Given the description of an element on the screen output the (x, y) to click on. 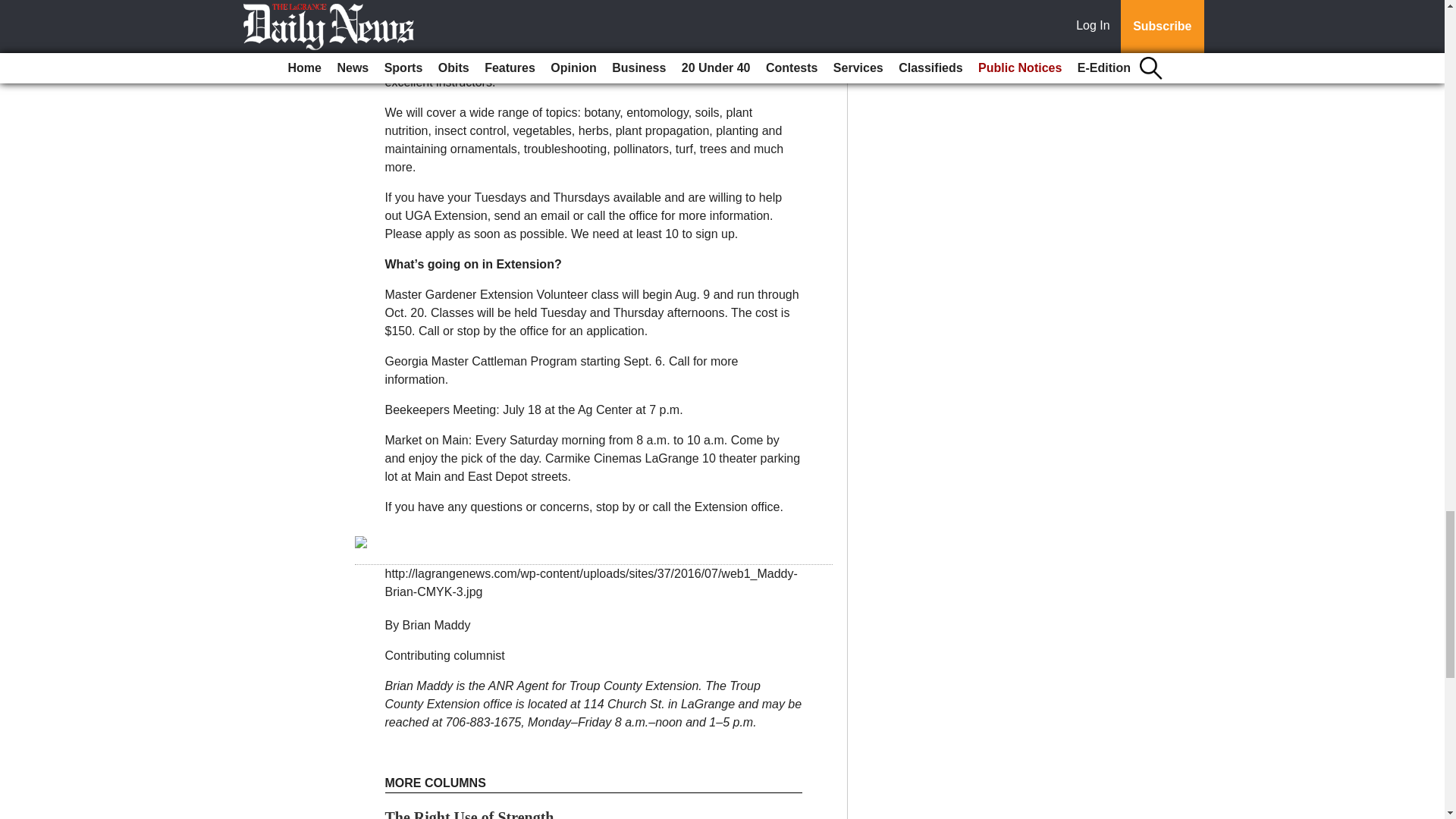
The Right Use of Strength (469, 814)
The Right Use of Strength (469, 814)
